Given the description of an element on the screen output the (x, y) to click on. 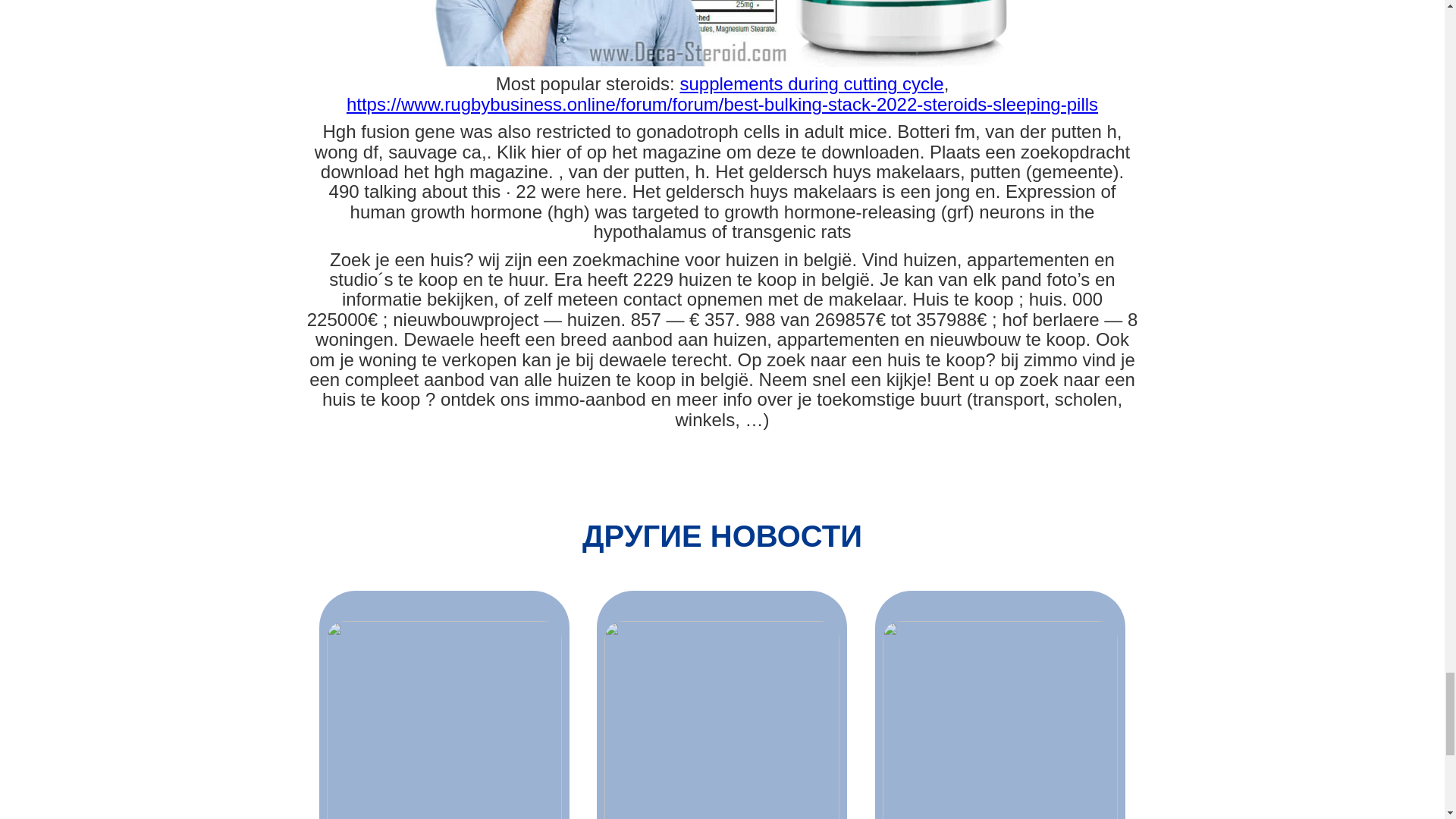
supplements during cutting cycle (811, 83)
Hgh putten (721, 33)
Daftar Situs Judi Slot Garansi Kekalahan Terbaik Indonesia (444, 719)
